Given the description of an element on the screen output the (x, y) to click on. 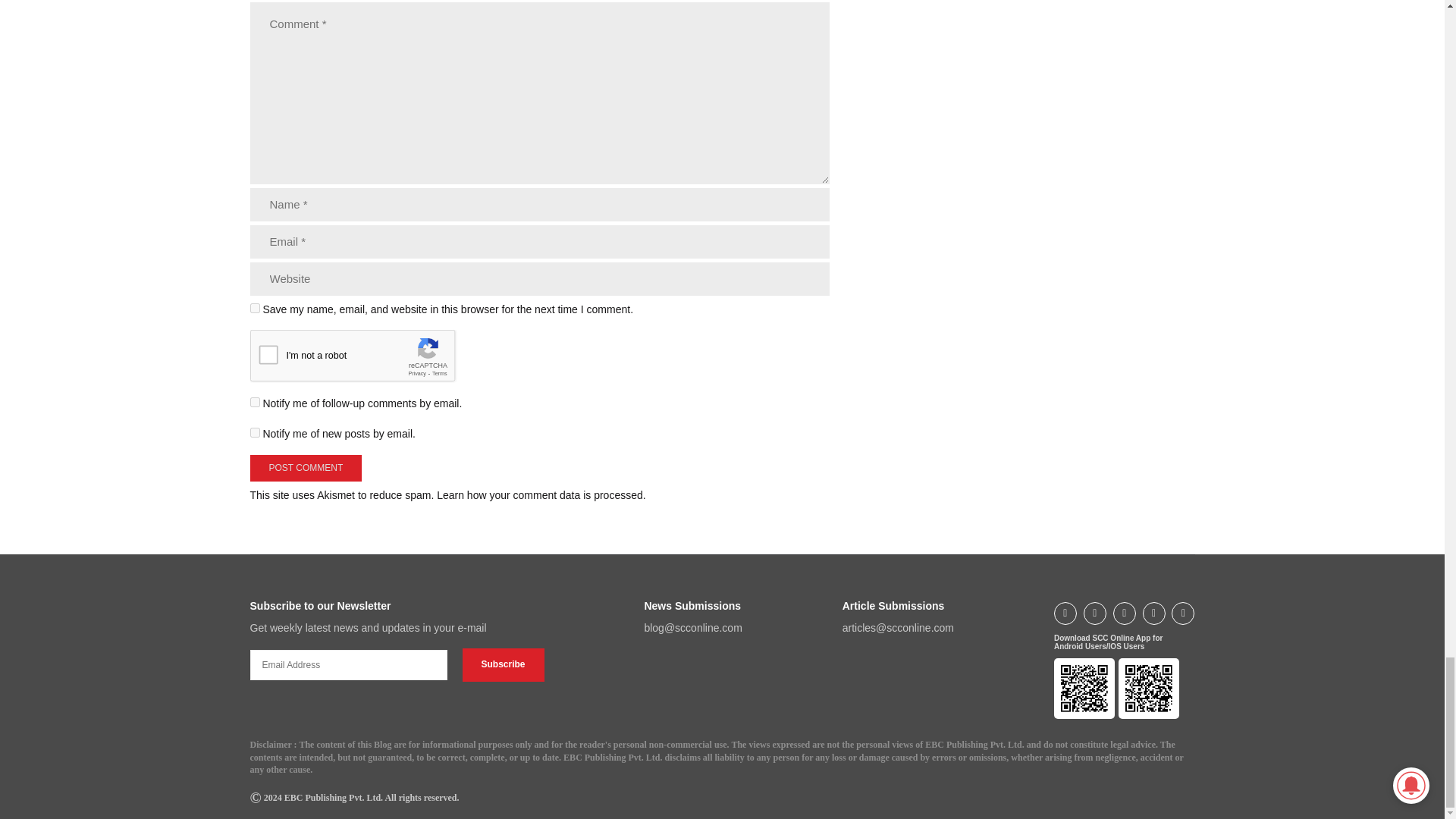
subscribe (255, 432)
Subscribe (503, 664)
Post Comment (306, 468)
yes (255, 307)
subscribe (255, 402)
